Given the description of an element on the screen output the (x, y) to click on. 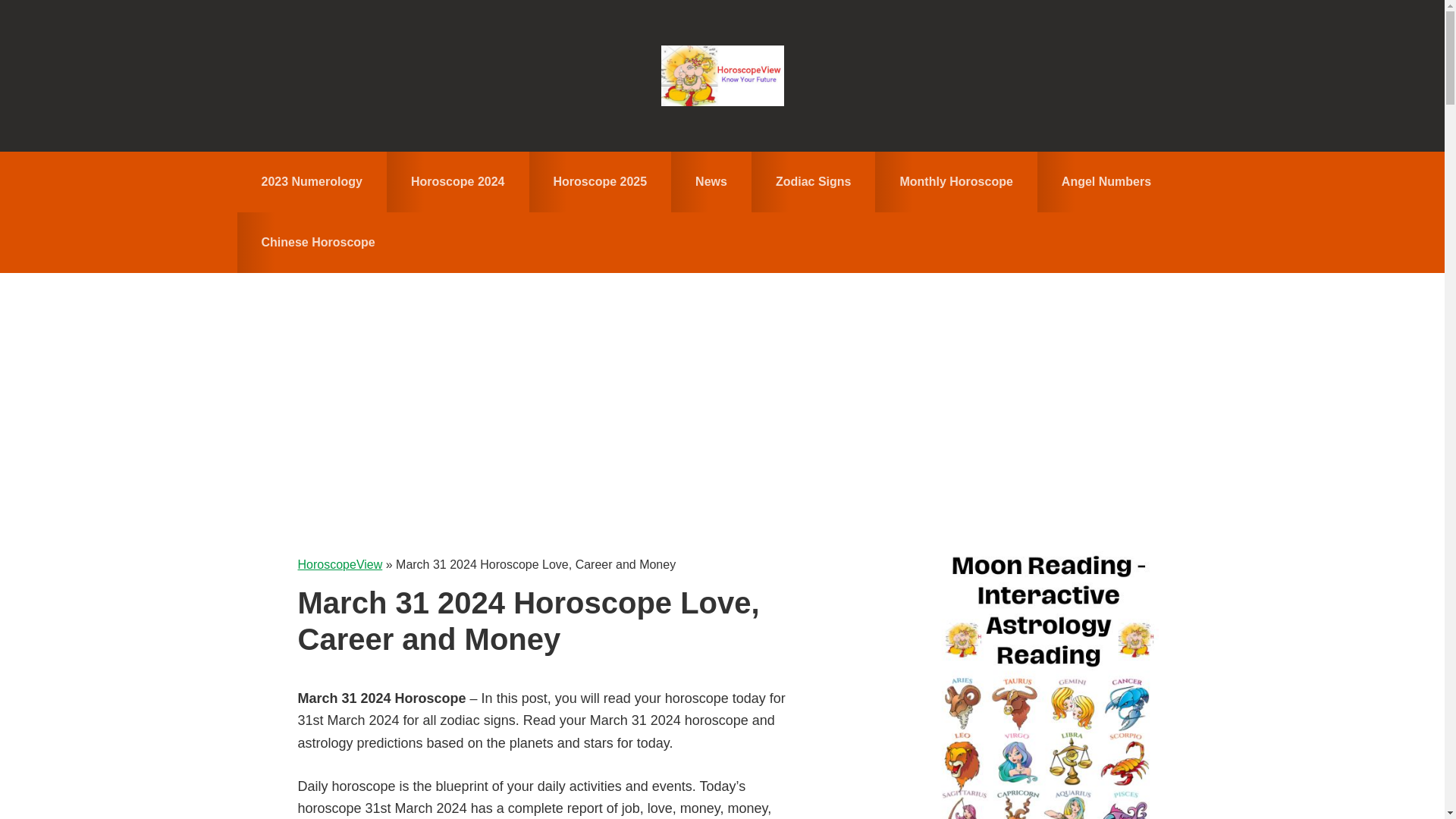
Angel Numbers (1105, 181)
Horoscope 2024 (458, 181)
Horoscope 2025 (600, 181)
News (711, 181)
Monthly Horoscope (955, 181)
2023 Numerology (310, 181)
Zodiac Signs (813, 181)
HoroscopeView (722, 75)
